Given the description of an element on the screen output the (x, y) to click on. 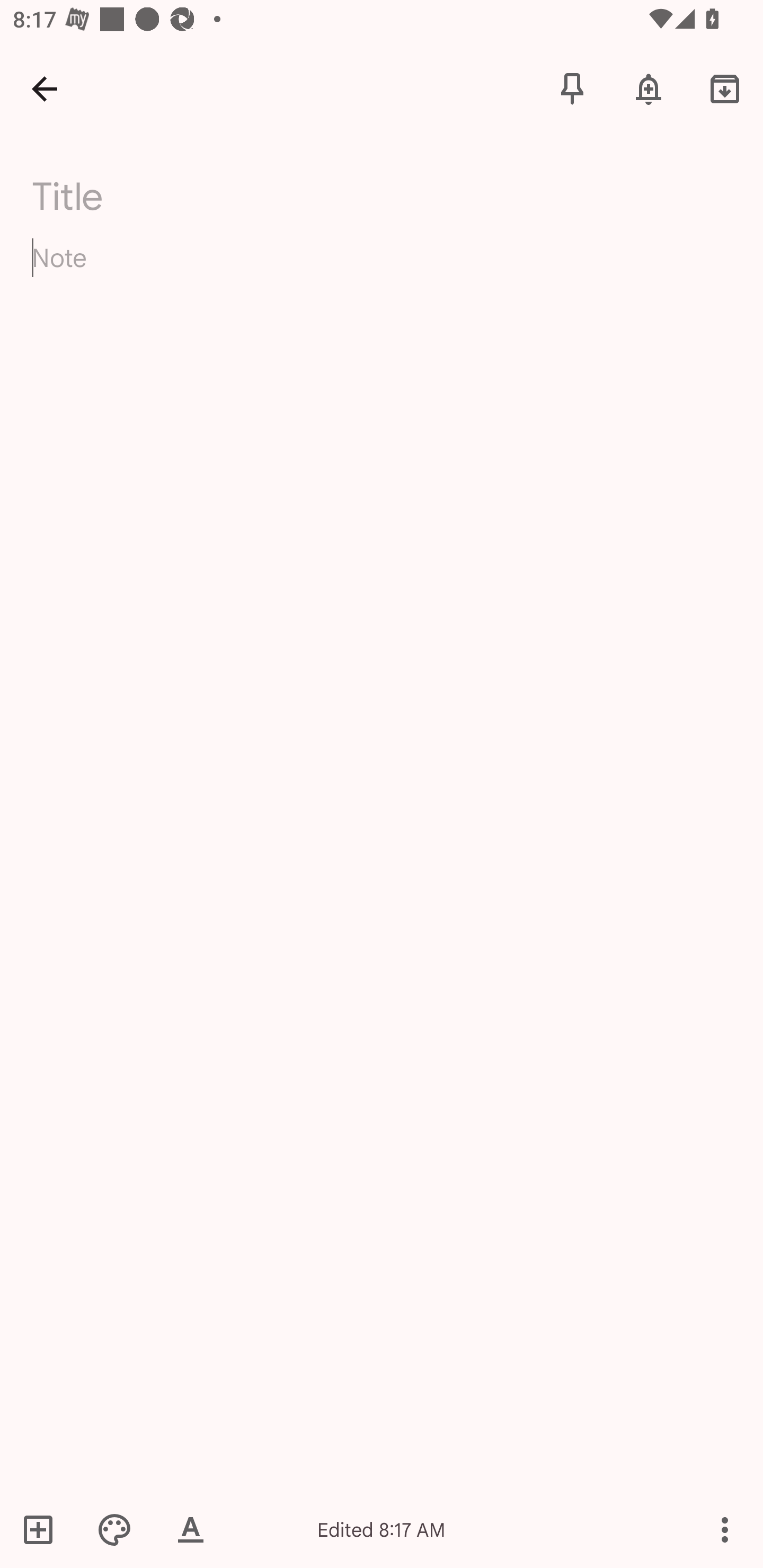
Navigate up (44, 88)
Pin (572, 88)
Reminder (648, 88)
Archive (724, 88)
.  (193, 192)
Note (381, 273)
New list (44, 1529)
Theme (114, 1529)
Show formatting controls (190, 1529)
Action (724, 1529)
